Given the description of an element on the screen output the (x, y) to click on. 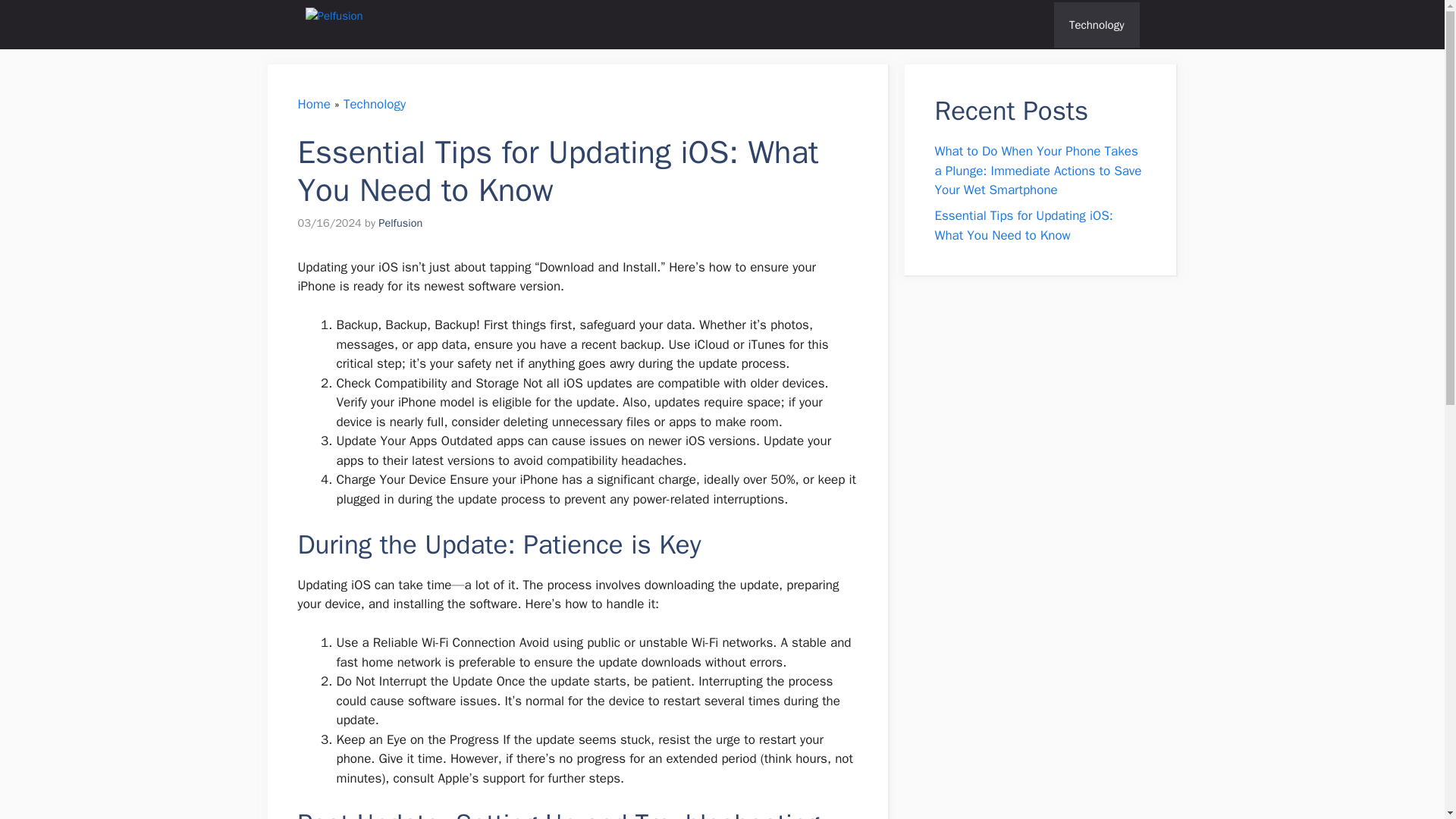
Pelfusion (400, 223)
Pelfusion (457, 24)
Technology (374, 104)
Home (313, 104)
Essential Tips for Updating iOS: What You Need to Know (1023, 225)
View all posts by Pelfusion (400, 223)
Technology (1097, 23)
